Given the description of an element on the screen output the (x, y) to click on. 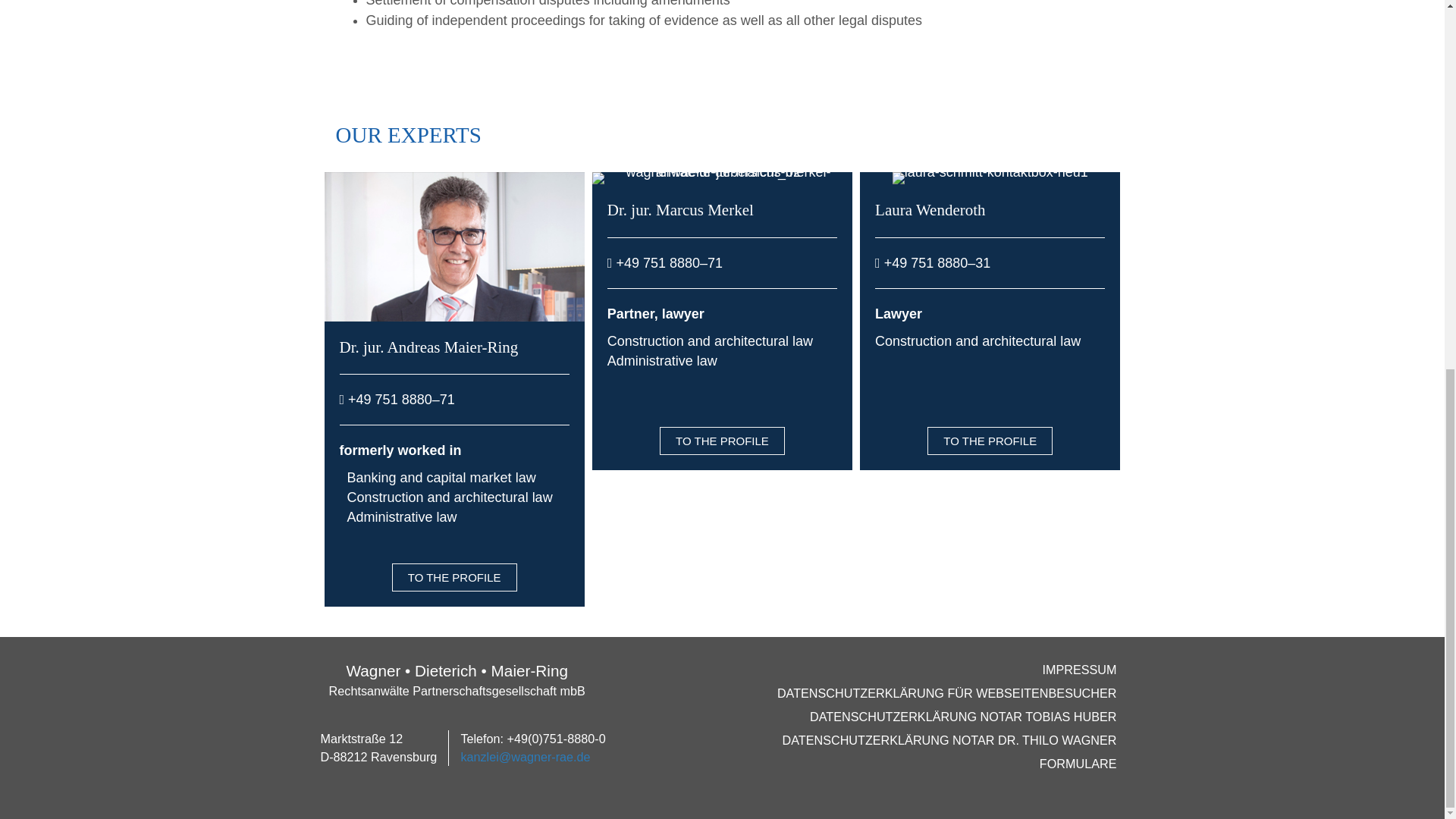
TO THE PROFILE (989, 440)
TO THE PROFILE (721, 440)
laura-schmitt-kontaktbox-neu1 (989, 177)
Laura Wenderoth (930, 209)
TO THE PROFILE (453, 577)
Dr. jur. Andreas Maier-Ring (428, 347)
Dr. jur. Andreas Maier-Ring (428, 347)
Dr. jur. Marcus Merkel (680, 209)
